Given the description of an element on the screen output the (x, y) to click on. 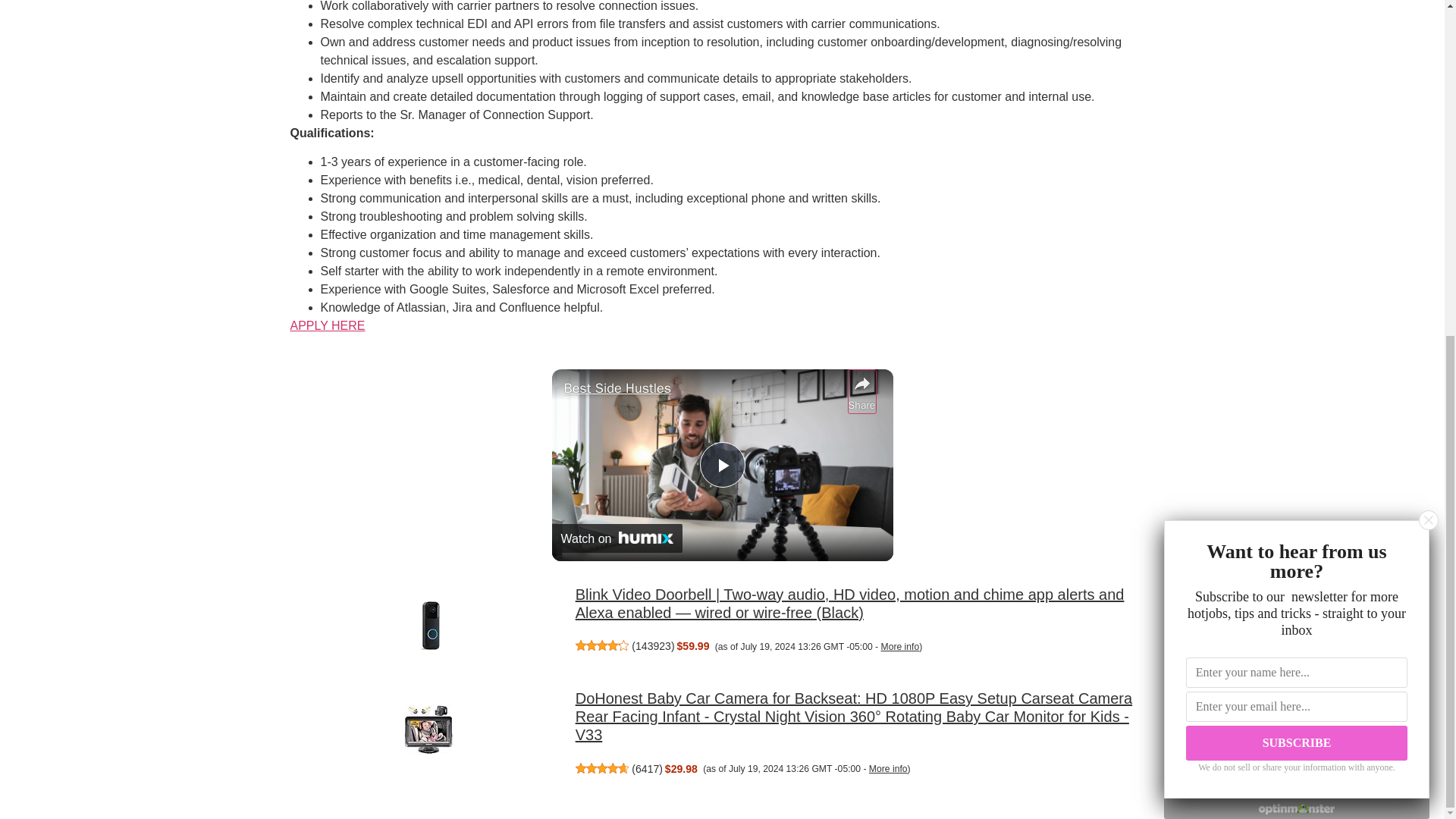
Powered by OptinMonster (1297, 244)
APPLY HERE (327, 325)
Subscribe (1296, 179)
Play Video (721, 464)
Play Video (721, 464)
